Given the description of an element on the screen output the (x, y) to click on. 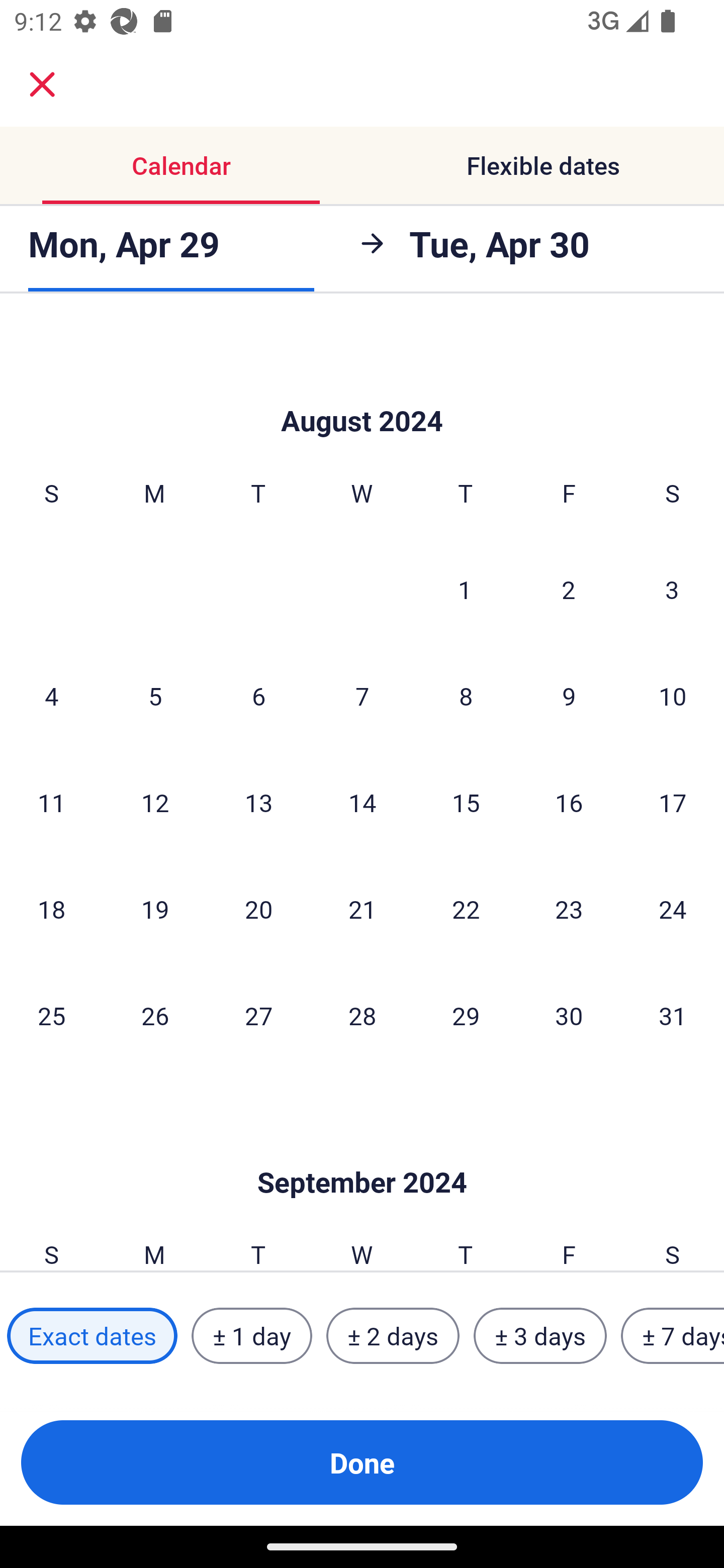
close. (42, 84)
Flexible dates (542, 164)
Skip to Done (362, 390)
1 Thursday, August 1, 2024 (464, 589)
2 Friday, August 2, 2024 (568, 589)
3 Saturday, August 3, 2024 (672, 589)
4 Sunday, August 4, 2024 (51, 695)
5 Monday, August 5, 2024 (155, 695)
6 Tuesday, August 6, 2024 (258, 695)
7 Wednesday, August 7, 2024 (362, 695)
8 Thursday, August 8, 2024 (465, 695)
9 Friday, August 9, 2024 (569, 695)
10 Saturday, August 10, 2024 (672, 695)
11 Sunday, August 11, 2024 (51, 802)
12 Monday, August 12, 2024 (155, 802)
13 Tuesday, August 13, 2024 (258, 802)
14 Wednesday, August 14, 2024 (362, 802)
15 Thursday, August 15, 2024 (465, 802)
16 Friday, August 16, 2024 (569, 802)
17 Saturday, August 17, 2024 (672, 802)
18 Sunday, August 18, 2024 (51, 908)
19 Monday, August 19, 2024 (155, 908)
20 Tuesday, August 20, 2024 (258, 908)
21 Wednesday, August 21, 2024 (362, 908)
22 Thursday, August 22, 2024 (465, 908)
23 Friday, August 23, 2024 (569, 908)
24 Saturday, August 24, 2024 (672, 908)
25 Sunday, August 25, 2024 (51, 1015)
26 Monday, August 26, 2024 (155, 1015)
27 Tuesday, August 27, 2024 (258, 1015)
28 Wednesday, August 28, 2024 (362, 1015)
29 Thursday, August 29, 2024 (465, 1015)
30 Friday, August 30, 2024 (569, 1015)
31 Saturday, August 31, 2024 (672, 1015)
Skip to Done (362, 1152)
Exact dates (92, 1335)
± 1 day (251, 1335)
± 2 days (392, 1335)
± 3 days (539, 1335)
± 7 days (672, 1335)
Done (361, 1462)
